Given the description of an element on the screen output the (x, y) to click on. 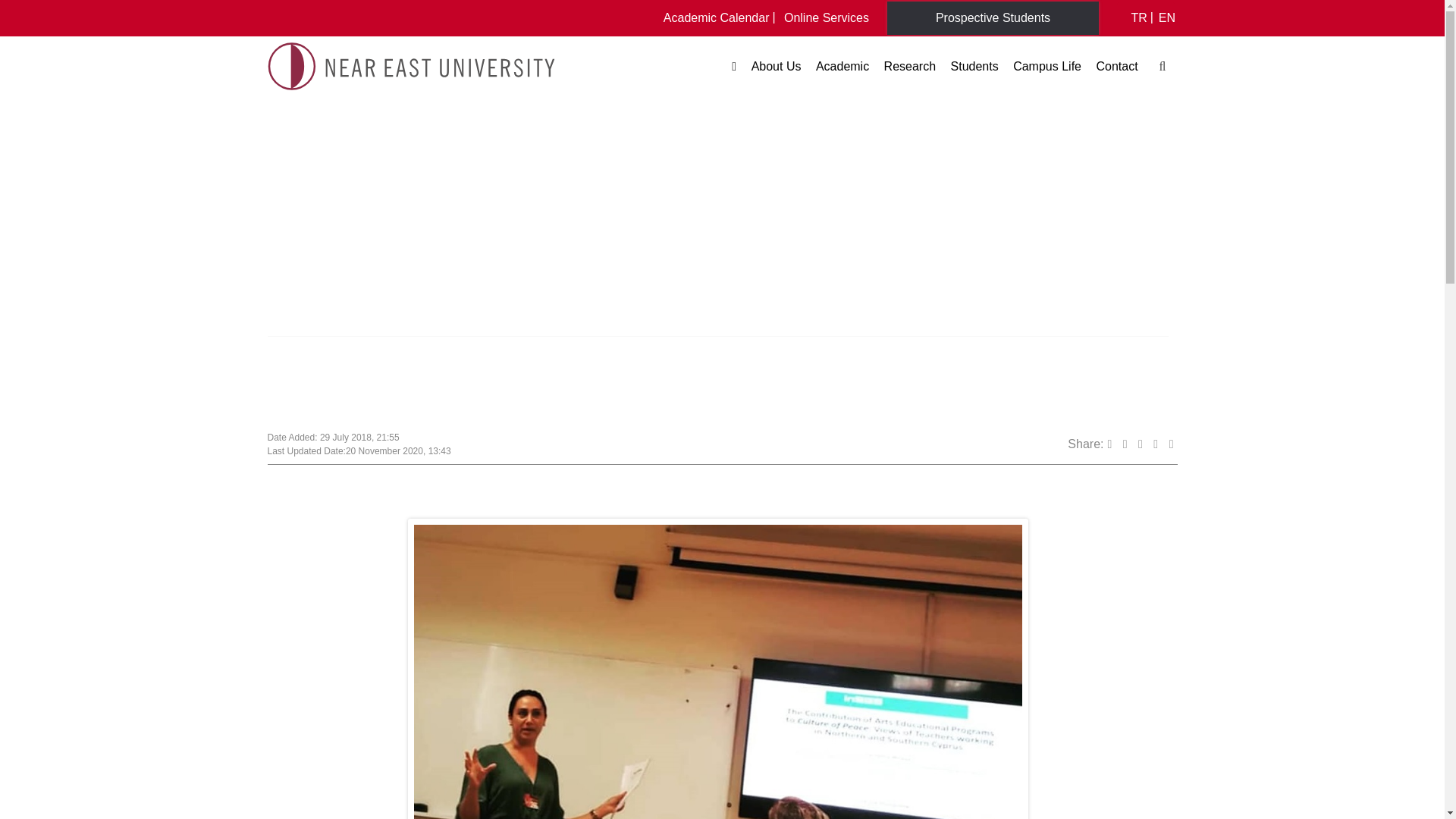
Center of Excellence (996, 88)
About Us (776, 66)
Faculties (934, 88)
EN (1166, 18)
Message from the Chairman of the Board of Trustees (904, 88)
Online Services (826, 18)
Academic Calendar (716, 18)
Research (909, 66)
Academic (842, 66)
Prospective Students (992, 18)
